Given the description of an element on the screen output the (x, y) to click on. 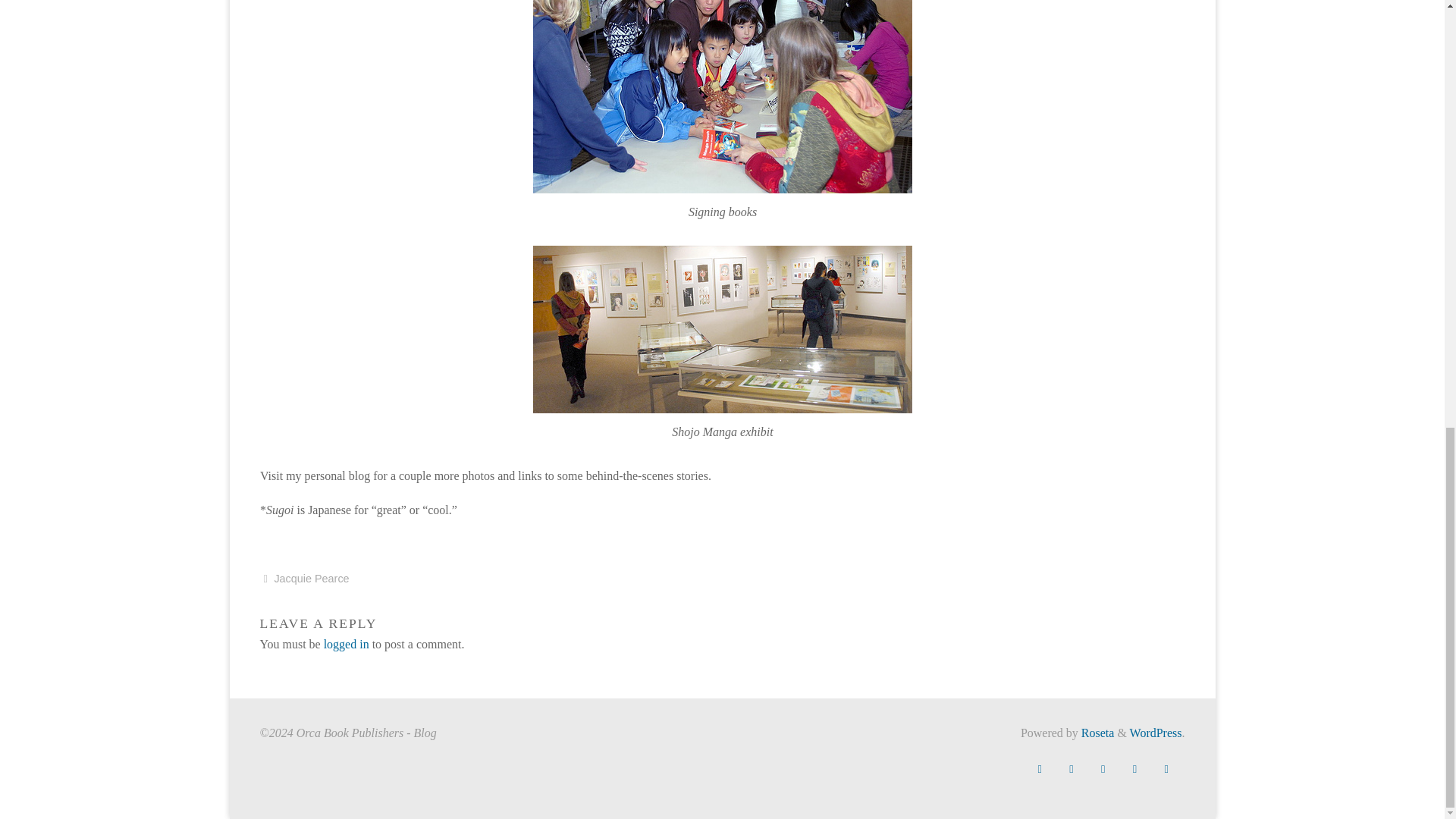
Jacqui4 (721, 329)
Facebook (1039, 768)
Roseta WordPress Theme by Cryout Creations (1096, 732)
Jacqui3 (721, 96)
Semantic Personal Publishing Platform (1155, 732)
